Given the description of an element on the screen output the (x, y) to click on. 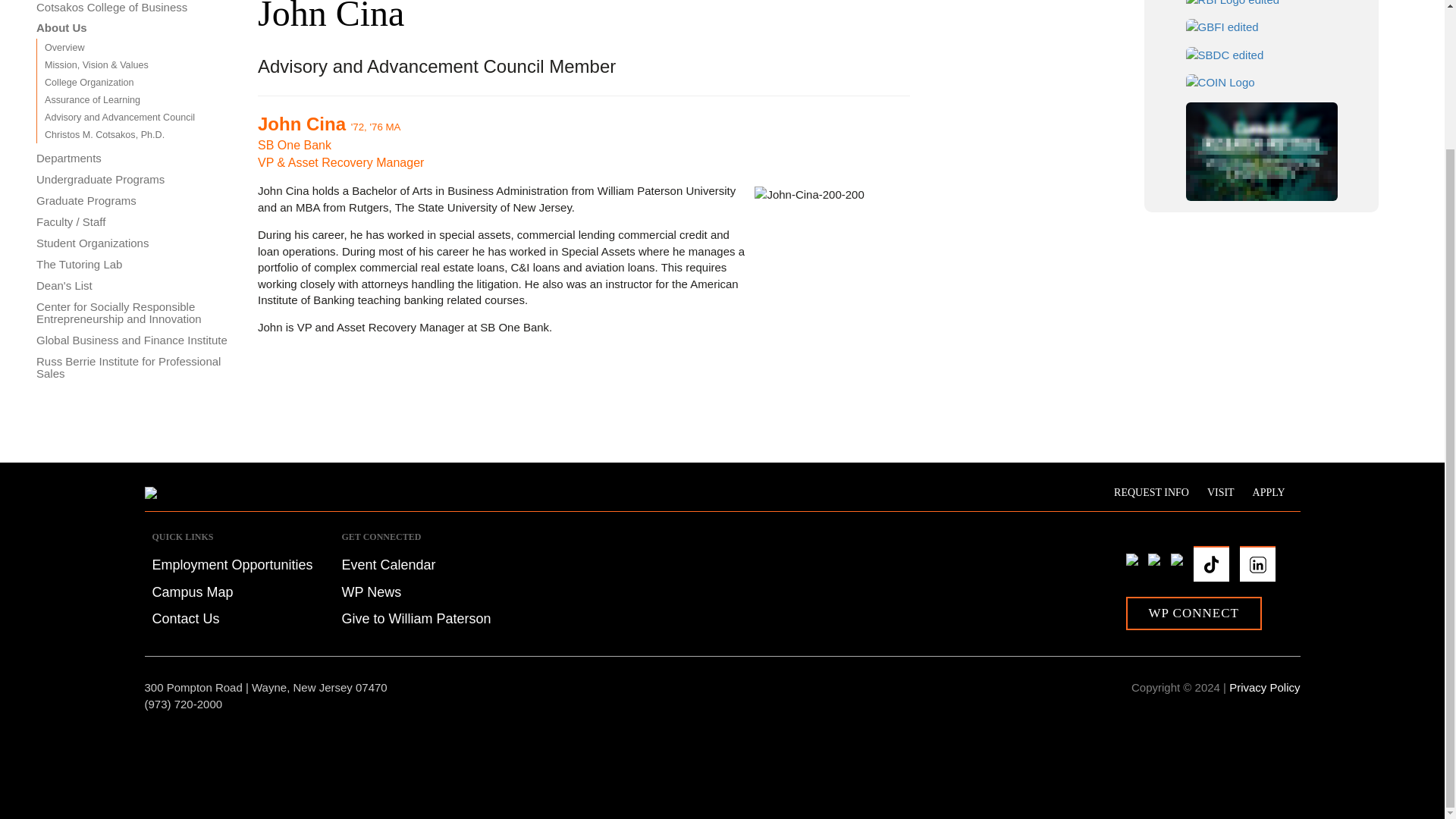
CRI home (1261, 151)
GBFI Page (1261, 26)
Crux of Industry Niche (1262, 82)
COIN Home (1261, 82)
